Given the description of an element on the screen output the (x, y) to click on. 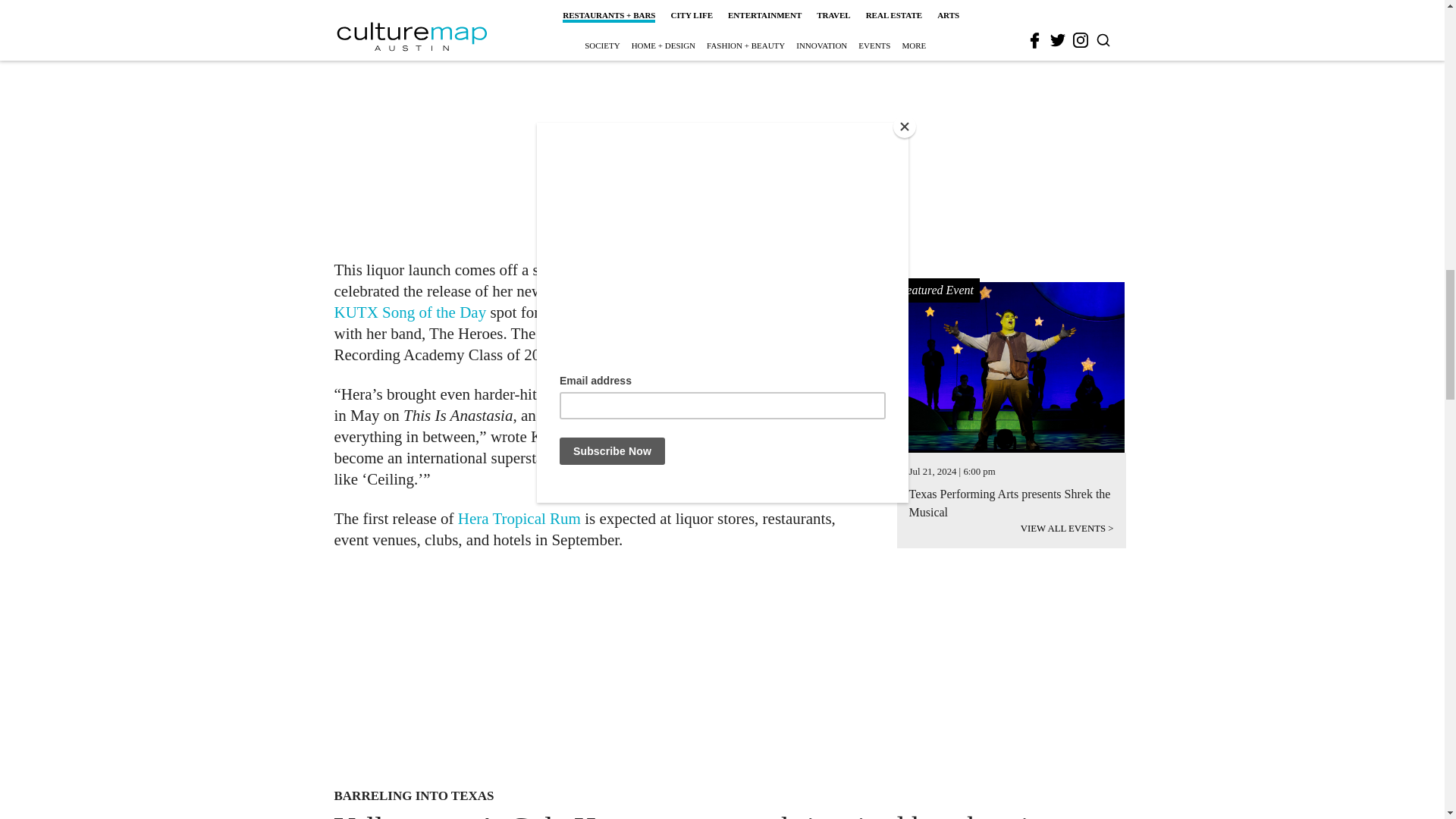
3rd party ad content (702, 671)
3rd party ad content (600, 145)
